Given the description of an element on the screen output the (x, y) to click on. 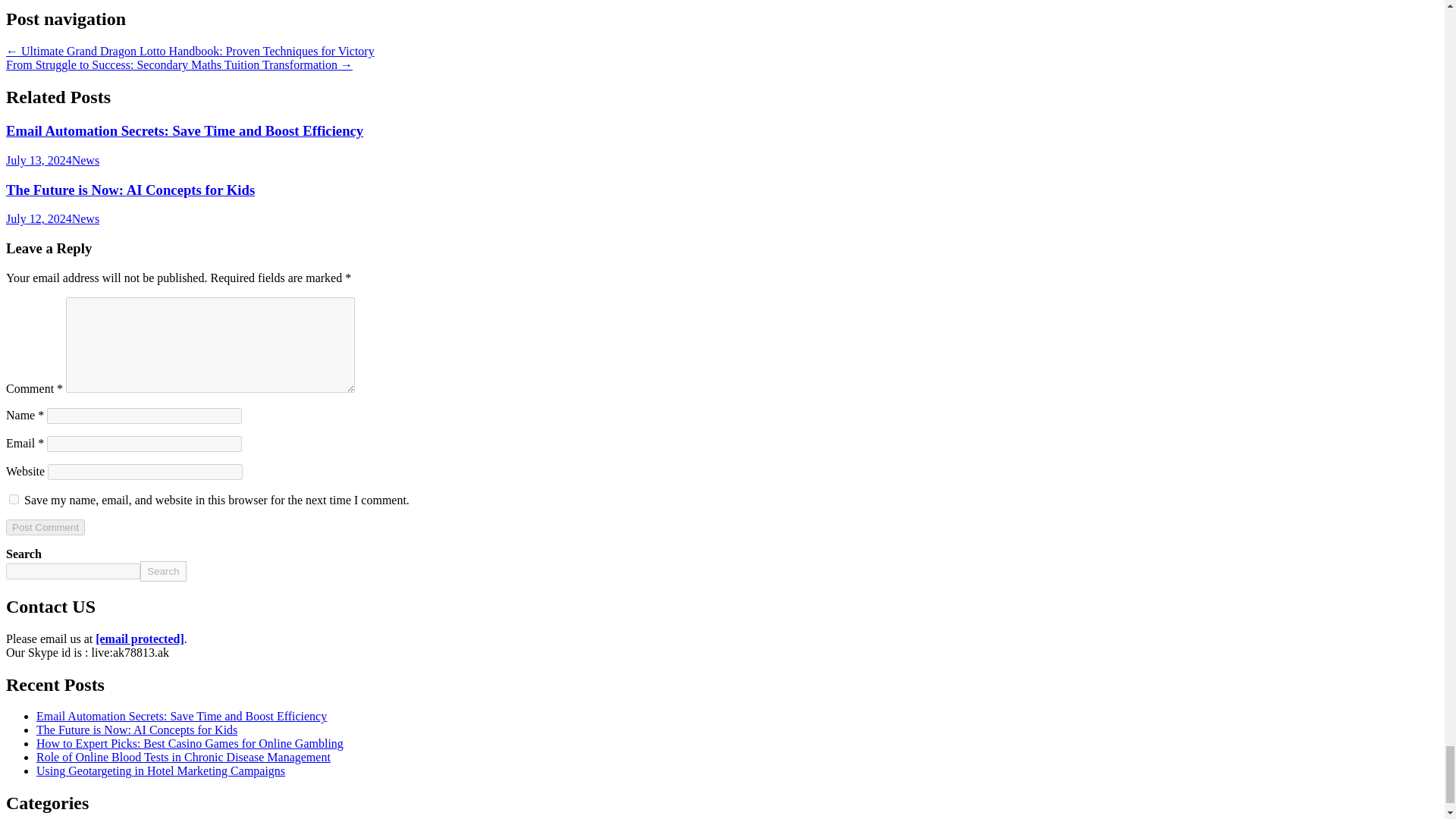
July 13, 2024 (38, 160)
Post Comment (44, 527)
Email Automation Secrets: Save Time and Boost Efficiency (183, 130)
yes (13, 499)
